Given the description of an element on the screen output the (x, y) to click on. 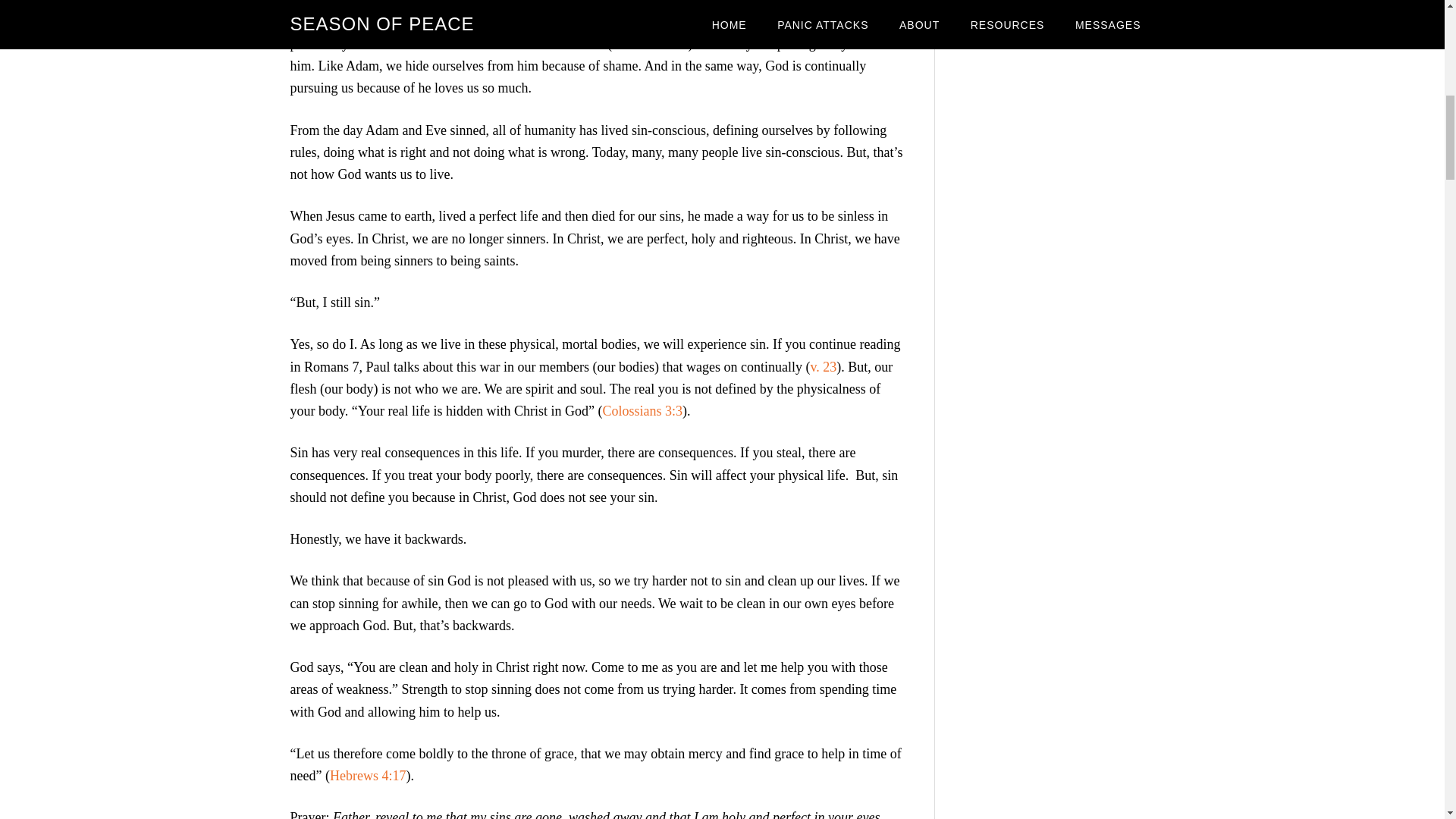
v. 23 (822, 366)
Hebrews 13:5 (649, 43)
Hebrews 4:17 (368, 775)
Colossians 3:3 (642, 410)
